Given the description of an element on the screen output the (x, y) to click on. 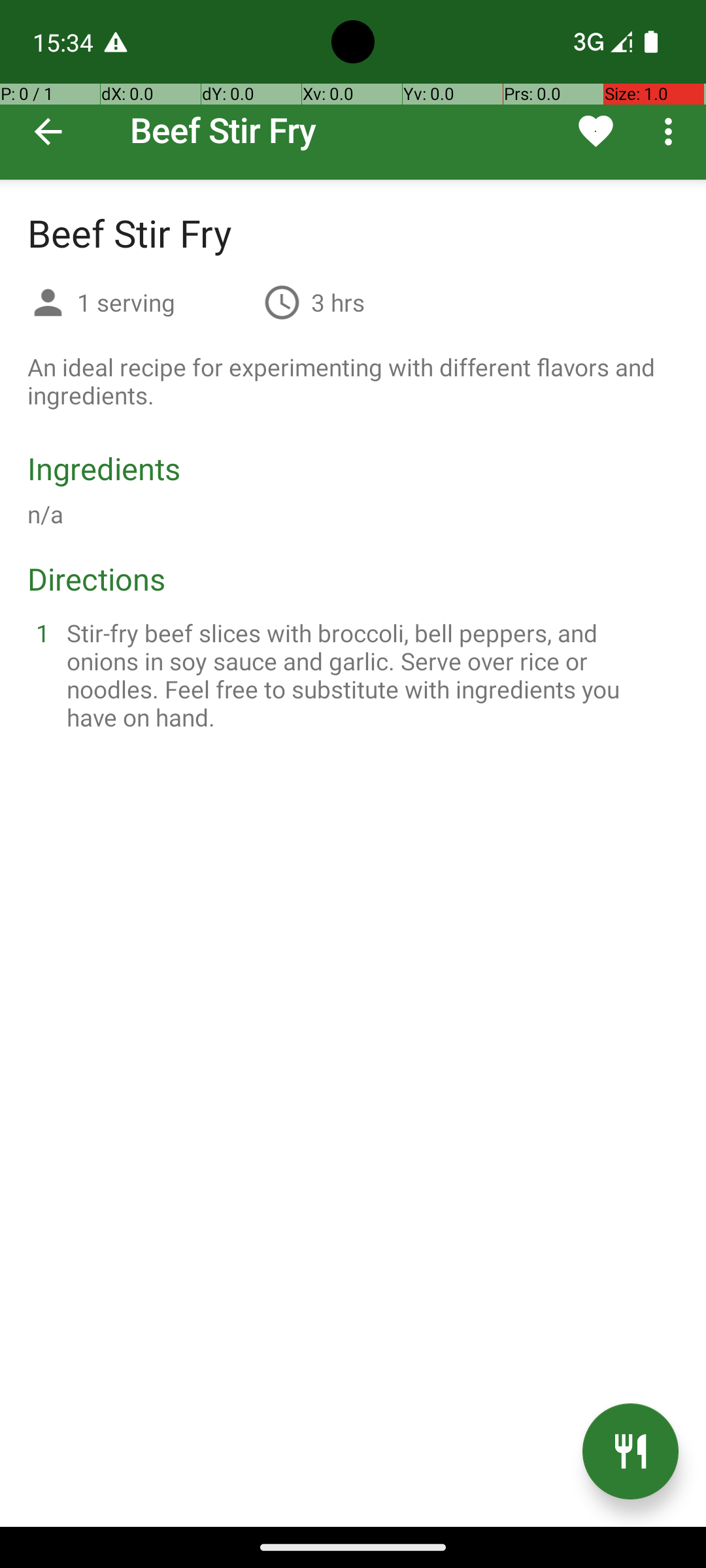
n/a Element type: android.widget.TextView (45, 513)
Stir-fry beef slices with broccoli, bell peppers, and onions in soy sauce and garlic. Serve over rice or noodles. Feel free to substitute with ingredients you have on hand. Element type: android.widget.TextView (368, 674)
